Given the description of an element on the screen output the (x, y) to click on. 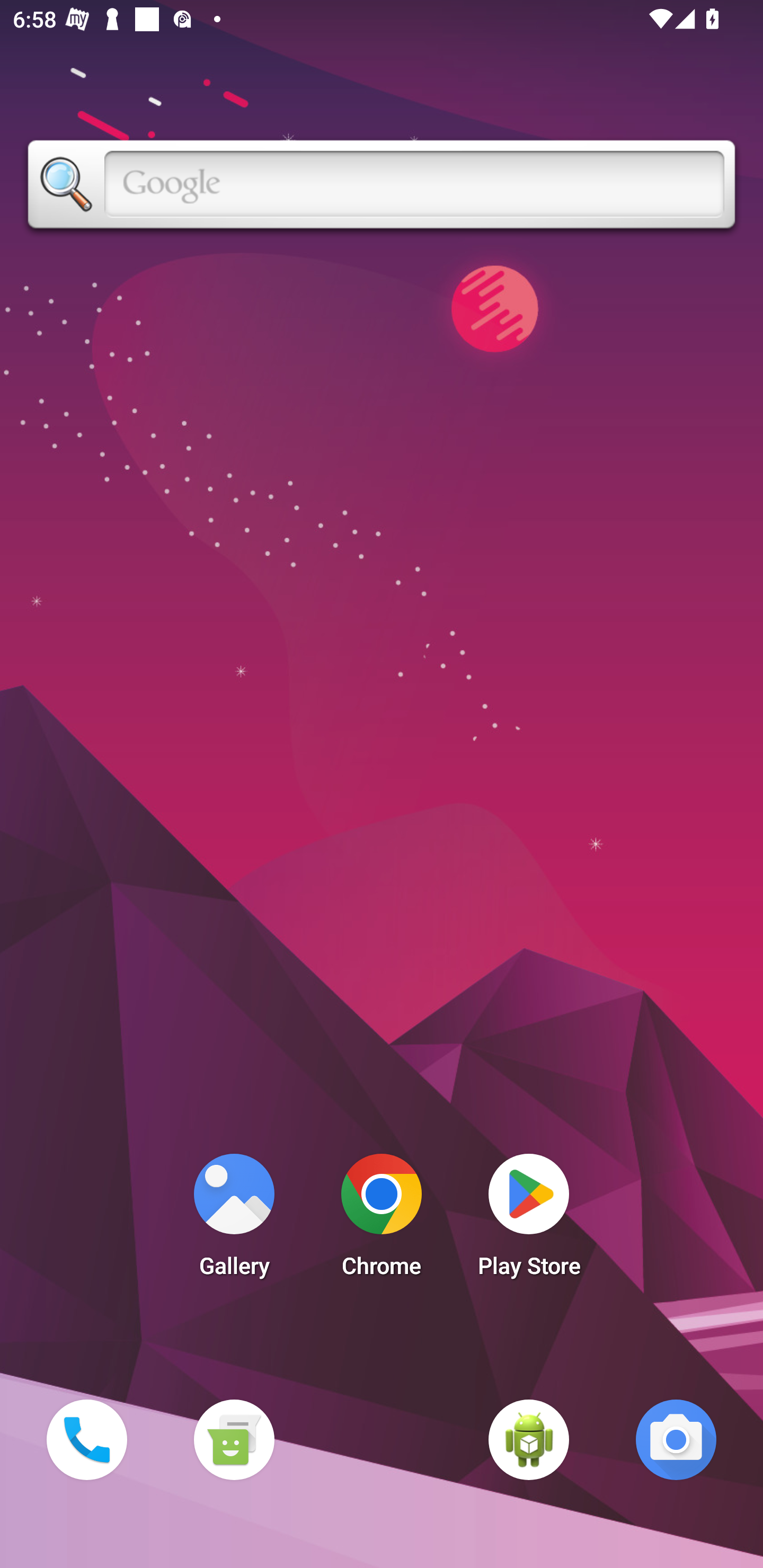
Gallery (233, 1220)
Chrome (381, 1220)
Play Store (528, 1220)
Phone (86, 1439)
Messaging (233, 1439)
WebView Browser Tester (528, 1439)
Camera (676, 1439)
